Given the description of an element on the screen output the (x, y) to click on. 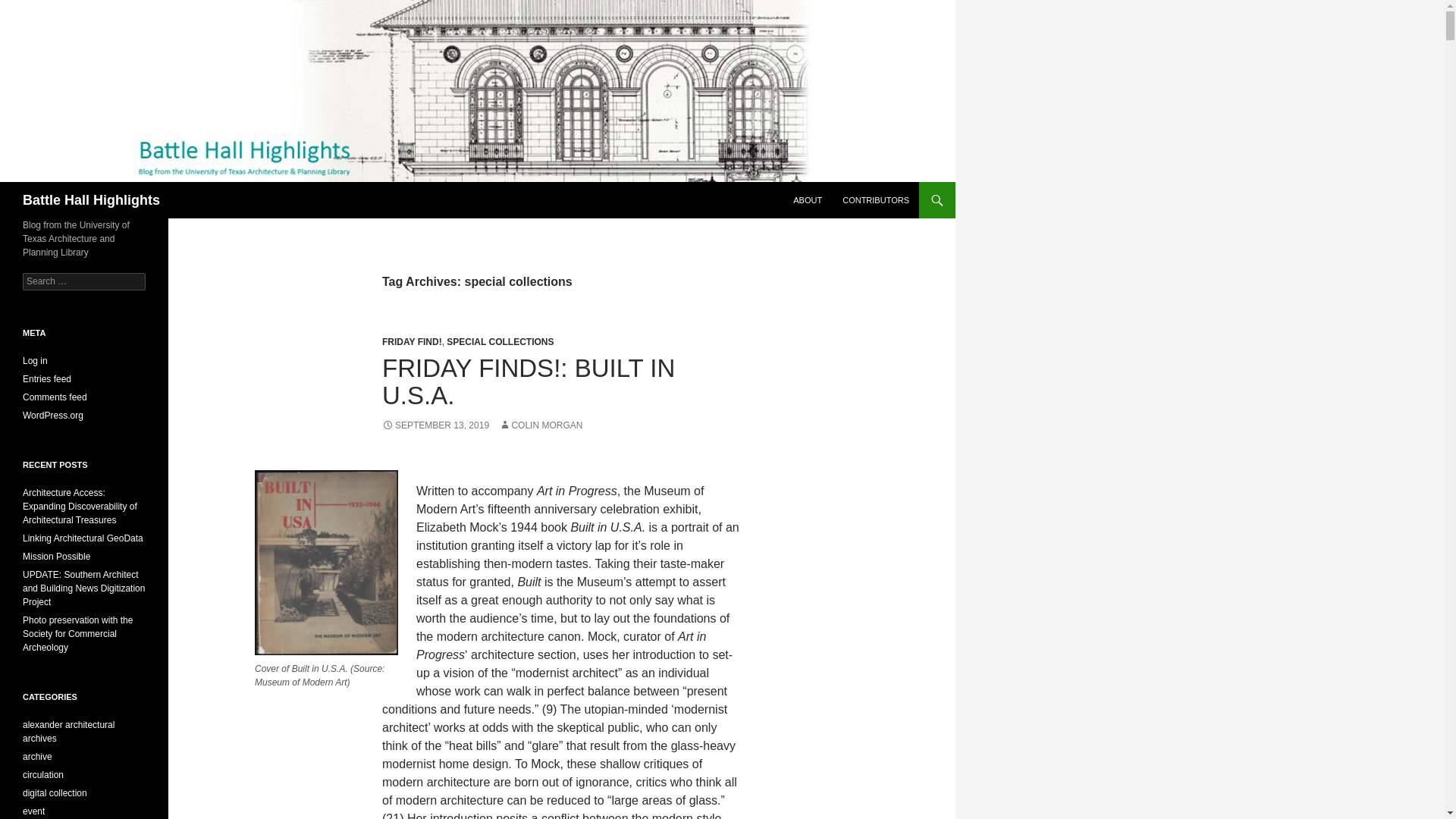
ABOUT (807, 199)
COLIN MORGAN (540, 425)
CONTRIBUTORS (875, 199)
FRIDAY FINDS!: BUILT IN U.S.A. (528, 381)
Battle Hall Highlights (91, 199)
SEPTEMBER 13, 2019 (435, 425)
FRIDAY FIND! (411, 341)
SPECIAL COLLECTIONS (499, 341)
